Given the description of an element on the screen output the (x, y) to click on. 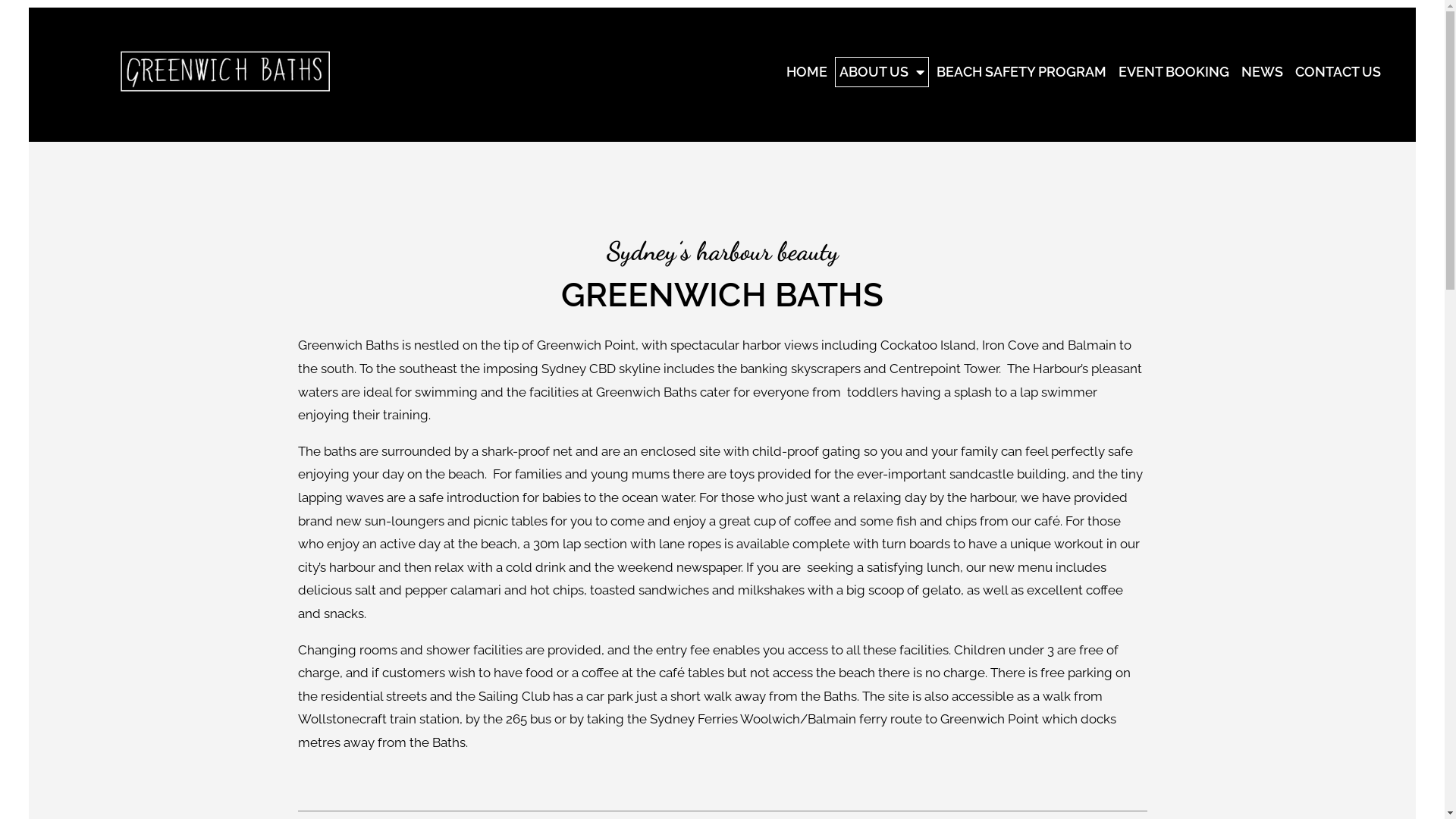
HOME Element type: text (806, 71)
NEWS Element type: text (1261, 71)
ABOUT US Element type: text (881, 71)
greenwich-logo-15-2-copy2 Element type: hover (225, 71)
CONTACT US Element type: text (1337, 71)
EVENT BOOKING Element type: text (1173, 71)
BEACH SAFETY PROGRAM Element type: text (1020, 71)
